Given the description of an element on the screen output the (x, y) to click on. 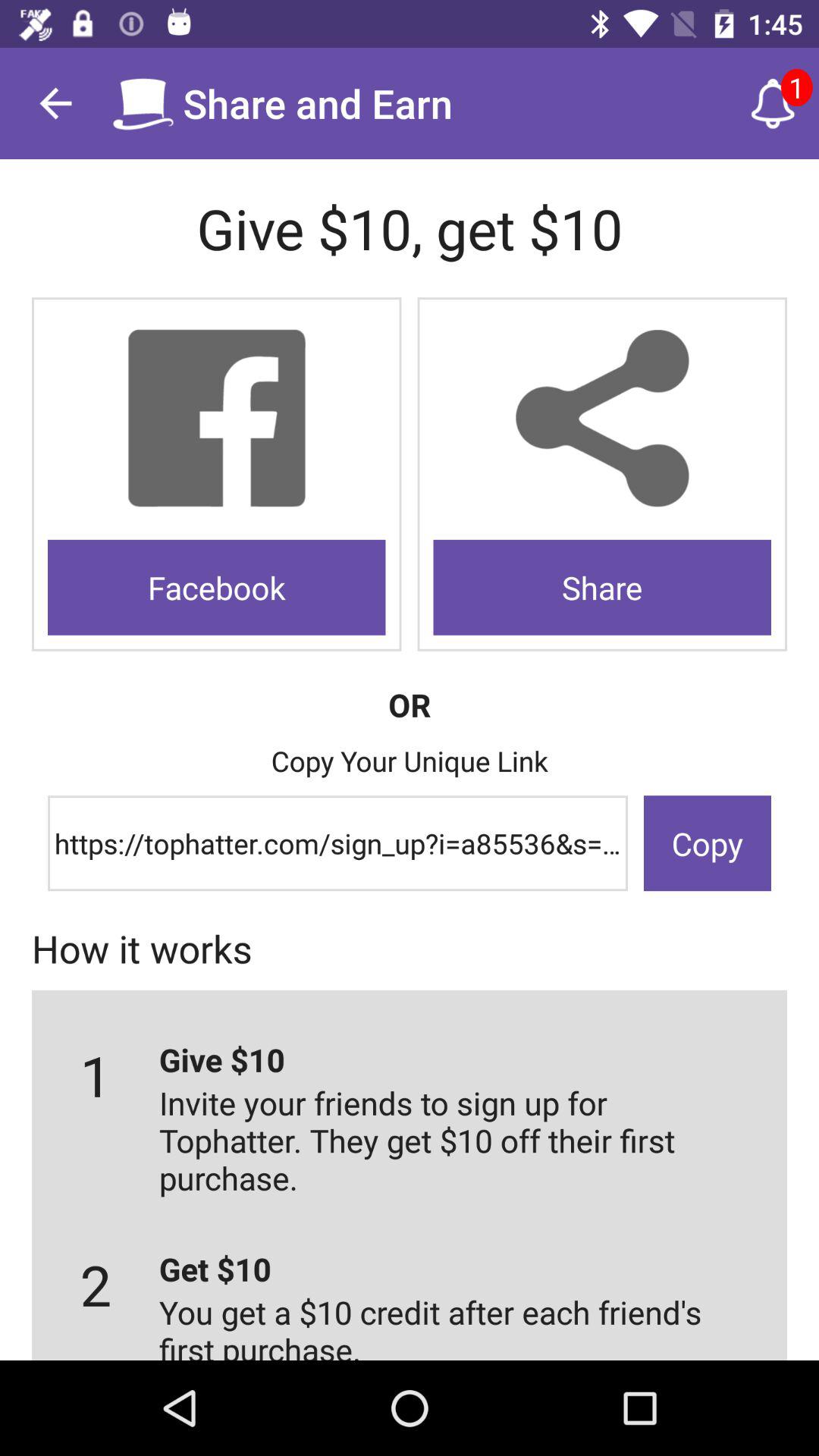
turn off the icon to the left of share icon (216, 587)
